Given the description of an element on the screen output the (x, y) to click on. 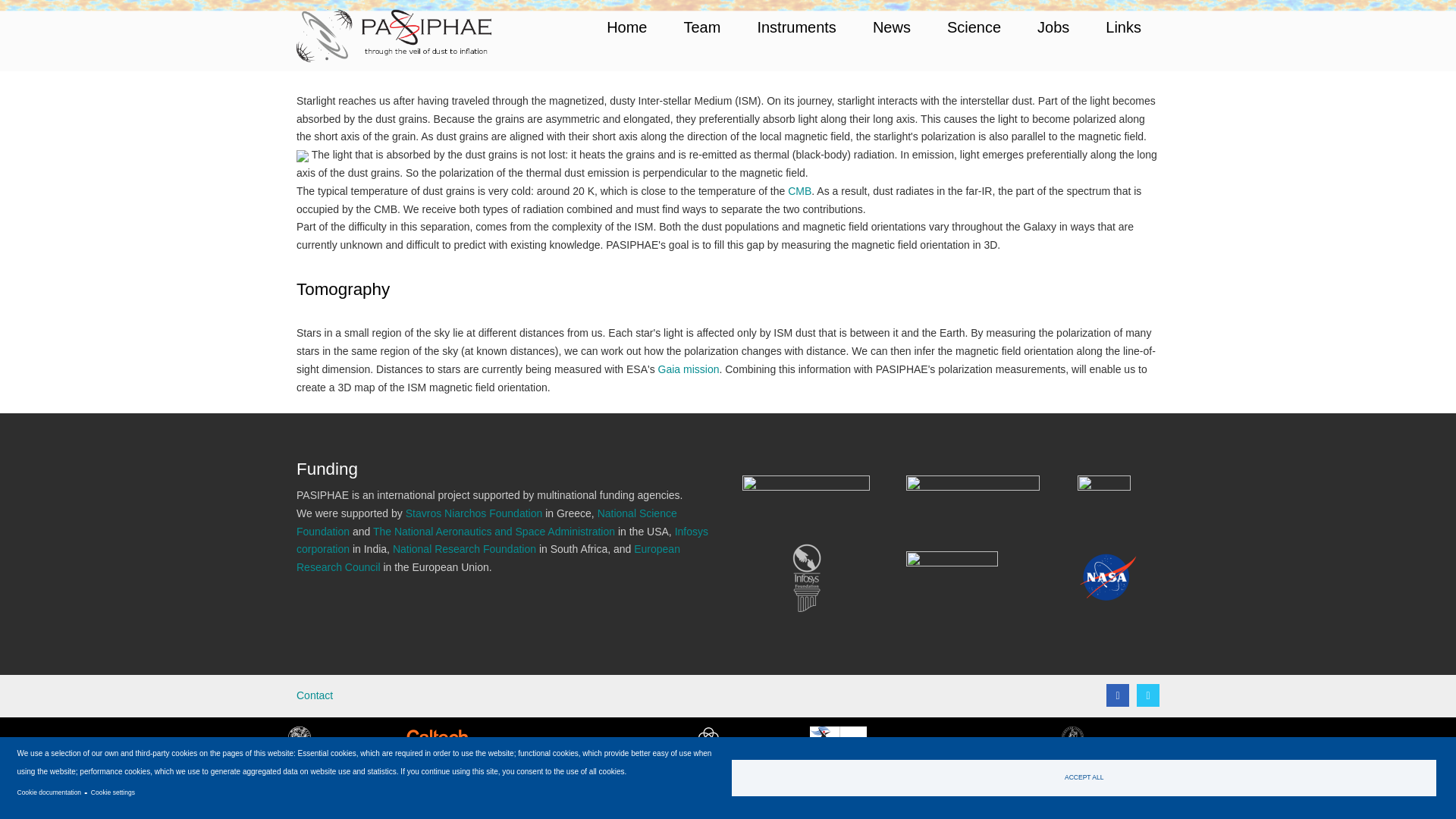
Home (626, 27)
Infosys corporation (502, 540)
Stavros Niarchos Foundation (474, 512)
News (891, 27)
Gaia mission (688, 369)
Instruments (795, 27)
Science (973, 27)
Jobs (1053, 27)
Home (394, 34)
